Given the description of an element on the screen output the (x, y) to click on. 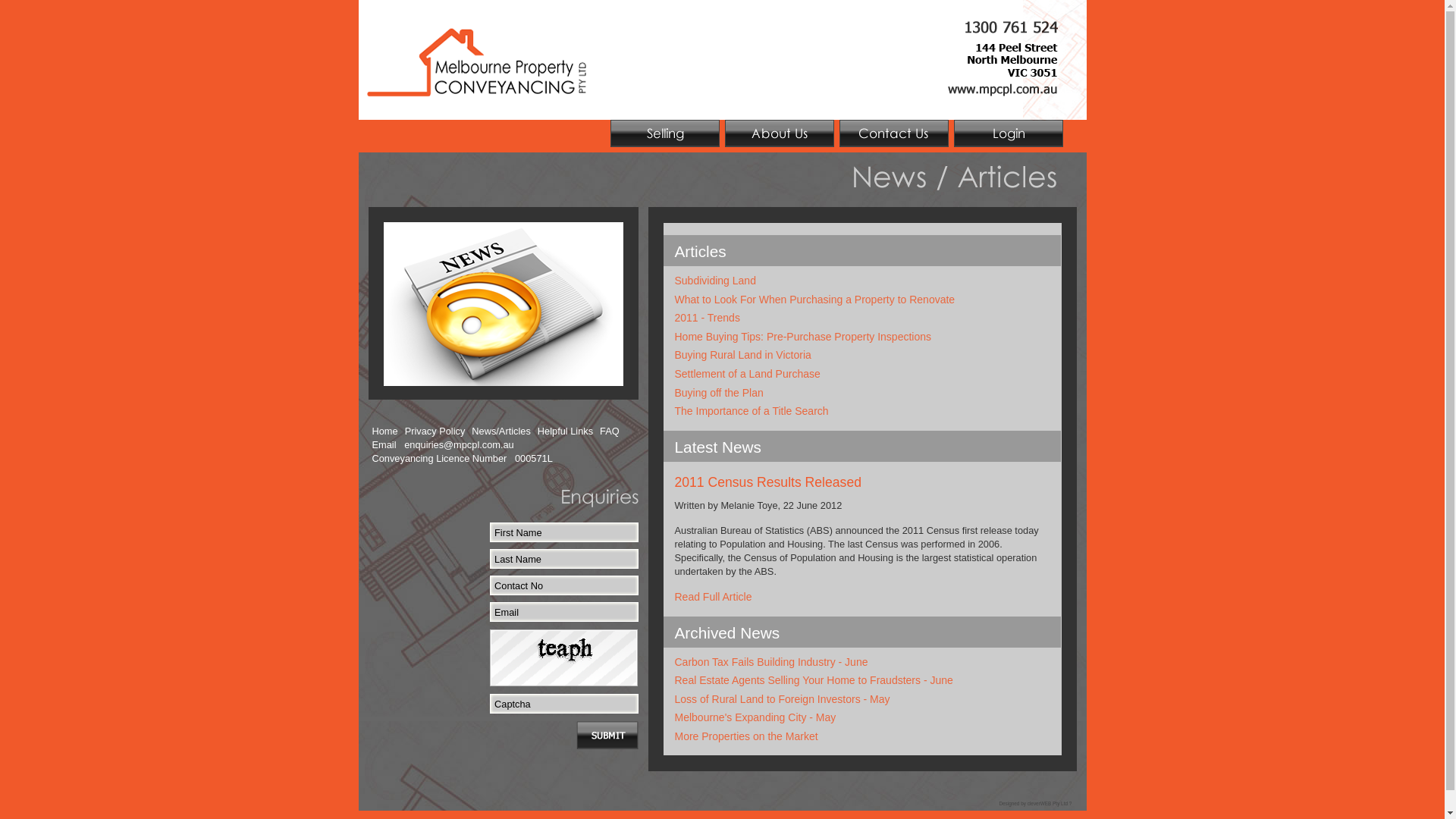
Melbourne's Expanding City - May Element type: text (755, 717)
The Importance of a Title Search Element type: text (751, 410)
Buying Rural Land in Victoria Element type: text (742, 354)
Buying off the Plan Element type: text (718, 392)
Loss of Rural Land to Foreign Investors - May Element type: text (782, 699)
 Email Element type: hover (563, 611)
Conveyancing Licence Number   000571L Element type: text (461, 458)
Real Estate Agents Selling Your Home to Fraudsters - June Element type: text (813, 680)
News/Articles Element type: text (500, 431)
Home Buying Tips: Pre-Purchase Property Inspections Element type: text (802, 336)
Carbon Tax Fails Building Industry - June Element type: text (771, 661)
More Properties on the Market Element type: text (746, 736)
Read Full Article Element type: text (713, 596)
FAQ Element type: text (609, 431)
 First Name Element type: hover (563, 532)
Helpful Links Element type: text (565, 431)
Home Element type: text (384, 431)
Privacy Policy Element type: text (434, 431)
 Contact No Element type: hover (563, 585)
Settlement of a Land Purchase Element type: text (747, 373)
Subdividing Land Element type: text (715, 280)
What to Look For When Purchasing a Property to Renovate Element type: text (814, 299)
Email   enquiries@mpcpl.com.au Element type: text (442, 444)
 Captcha Element type: hover (563, 703)
2011 - Trends Element type: text (707, 317)
 Last Name Element type: hover (563, 558)
